Given the description of an element on the screen output the (x, y) to click on. 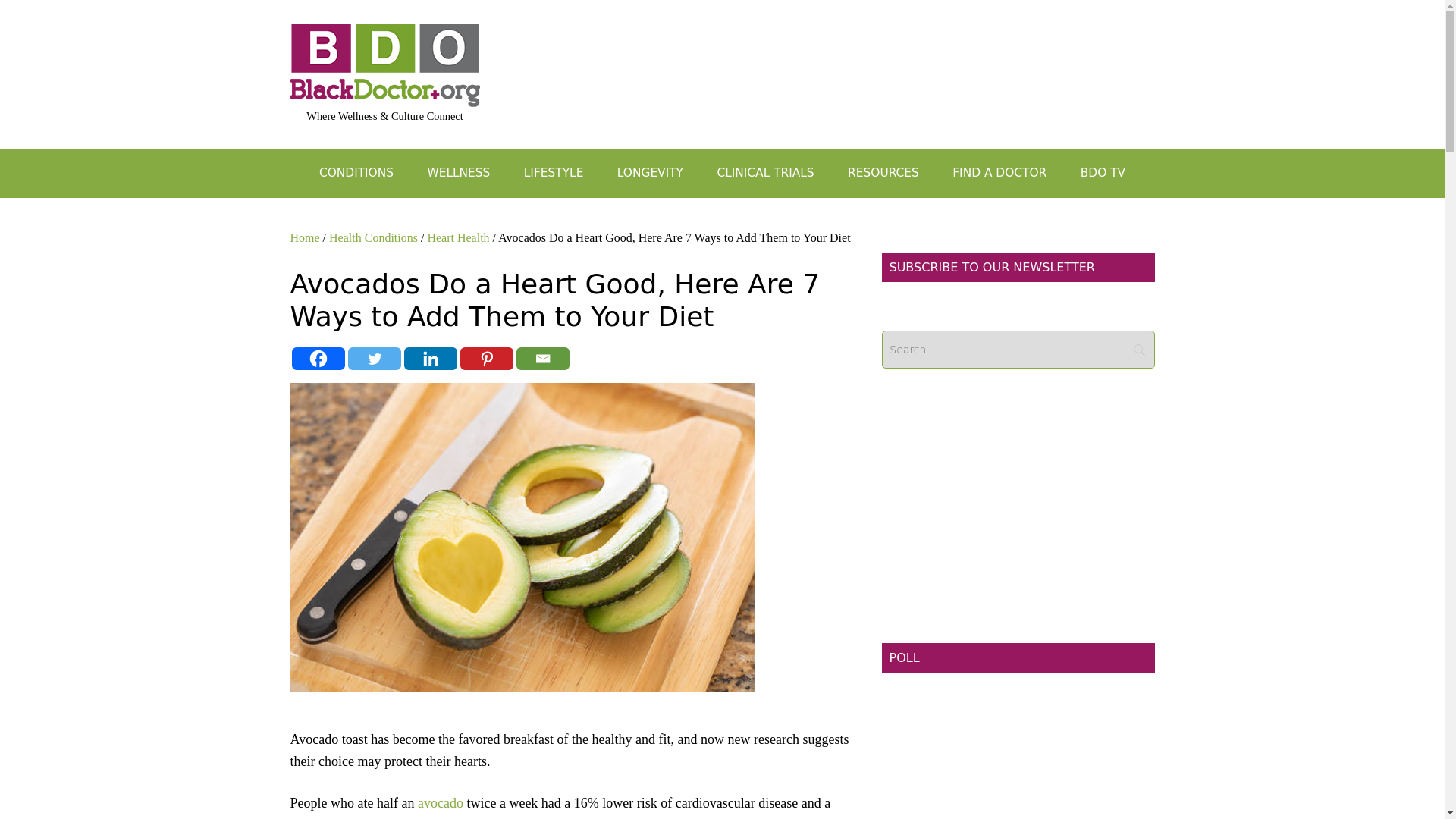
3rd party ad content (1017, 770)
Heart Health (457, 237)
avocado (440, 802)
CLINICAL TRIALS (764, 173)
Twitter (373, 358)
RESOURCES (883, 173)
Facebook (317, 358)
FIND A DOCTOR (999, 173)
WELLNESS (458, 173)
Search (1017, 349)
